Given the description of an element on the screen output the (x, y) to click on. 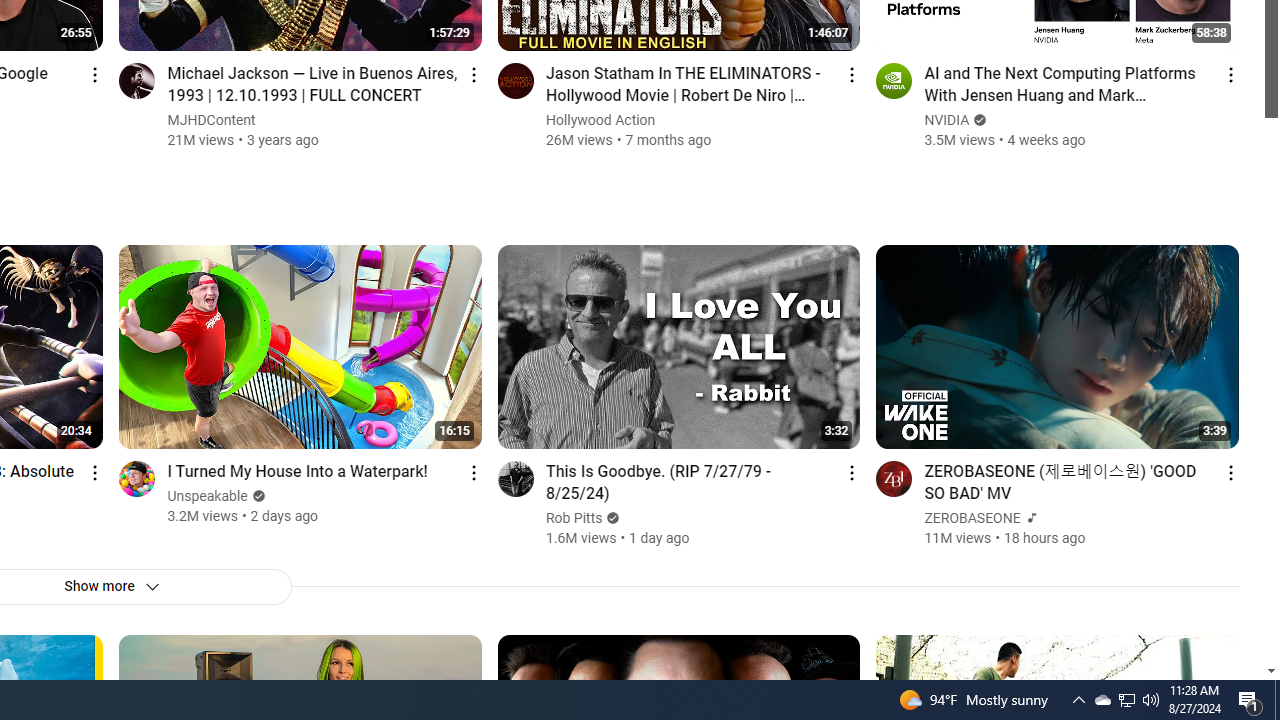
Unspeakable (207, 496)
